Given the description of an element on the screen output the (x, y) to click on. 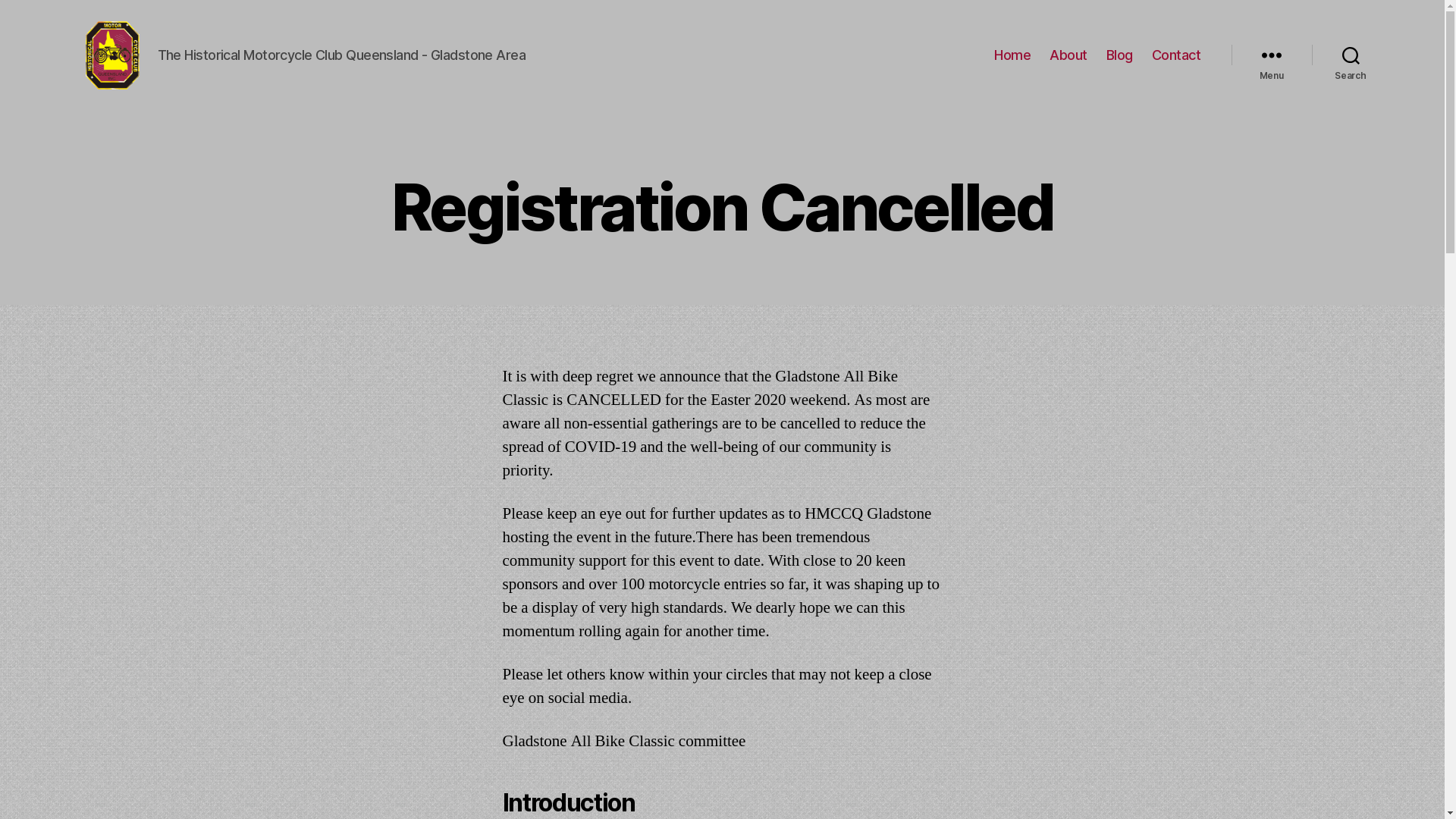
Contact Element type: text (1176, 55)
Blog Element type: text (1119, 55)
Home Element type: text (1012, 55)
Search Element type: text (1350, 55)
About Element type: text (1068, 55)
Menu Element type: text (1271, 55)
